Given the description of an element on the screen output the (x, y) to click on. 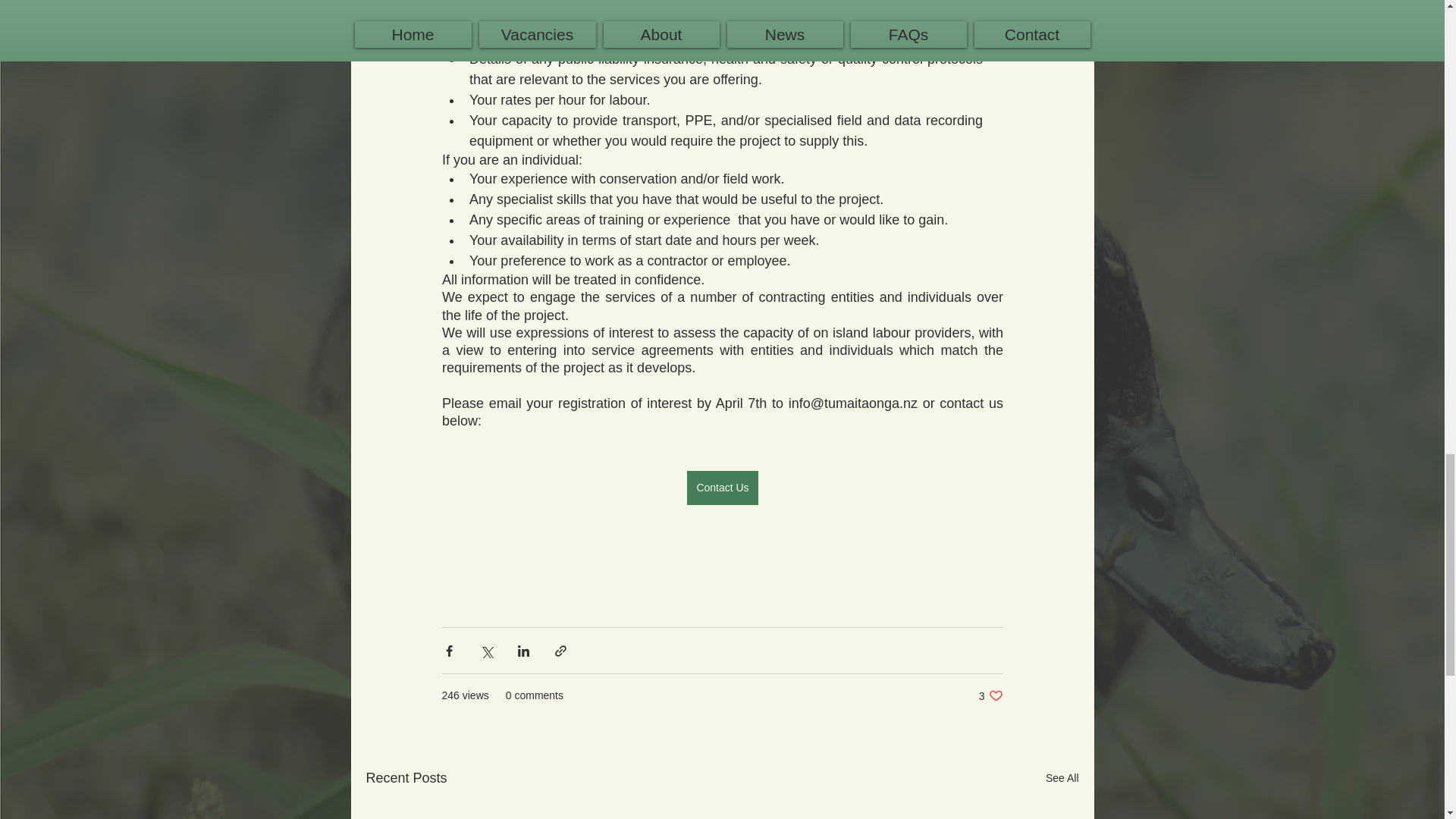
Contact Us (722, 487)
See All (990, 695)
